Given the description of an element on the screen output the (x, y) to click on. 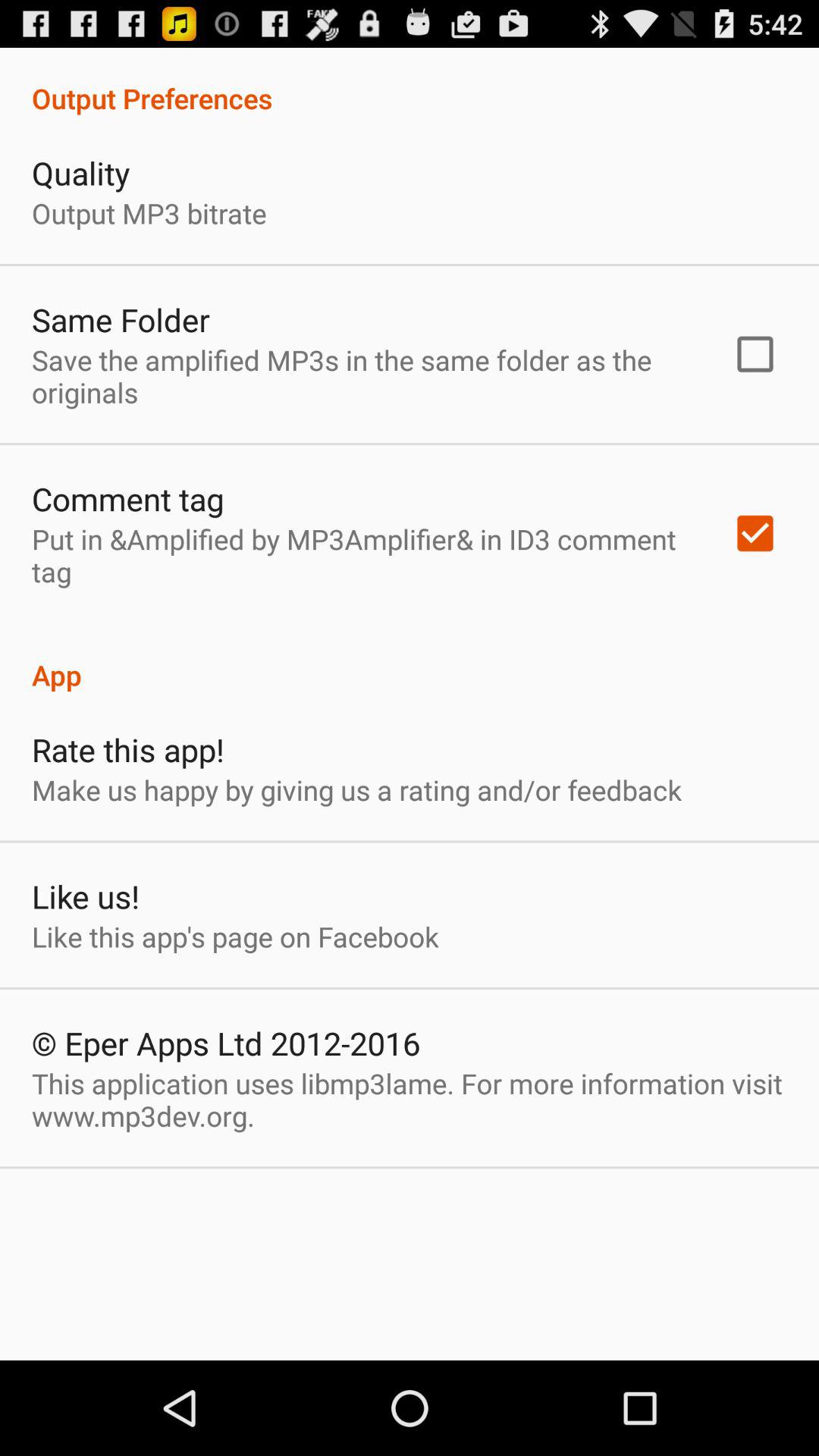
jump until the eper apps ltd (225, 1042)
